Given the description of an element on the screen output the (x, y) to click on. 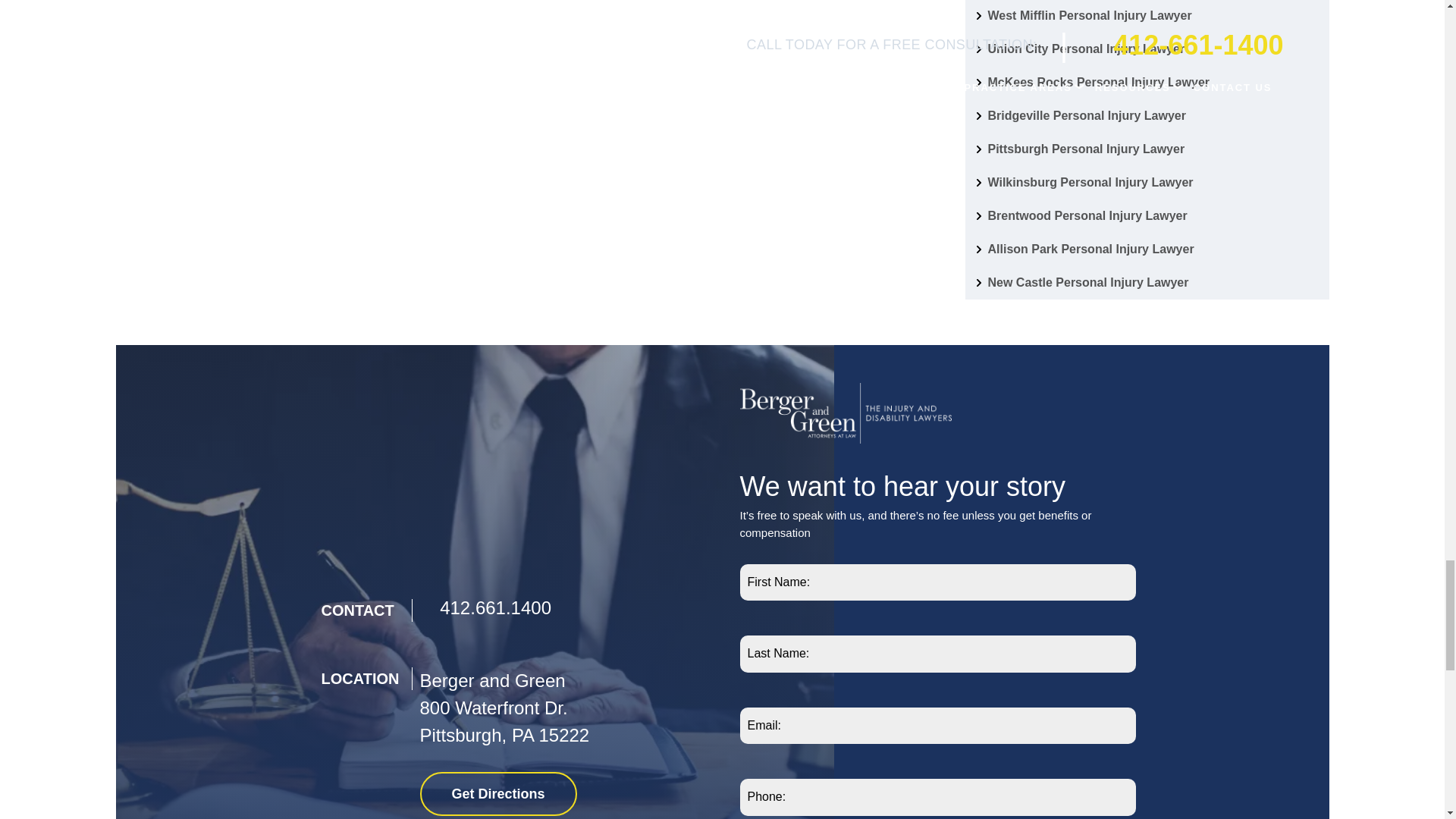
Get Directions (498, 793)
